Given the description of an element on the screen output the (x, y) to click on. 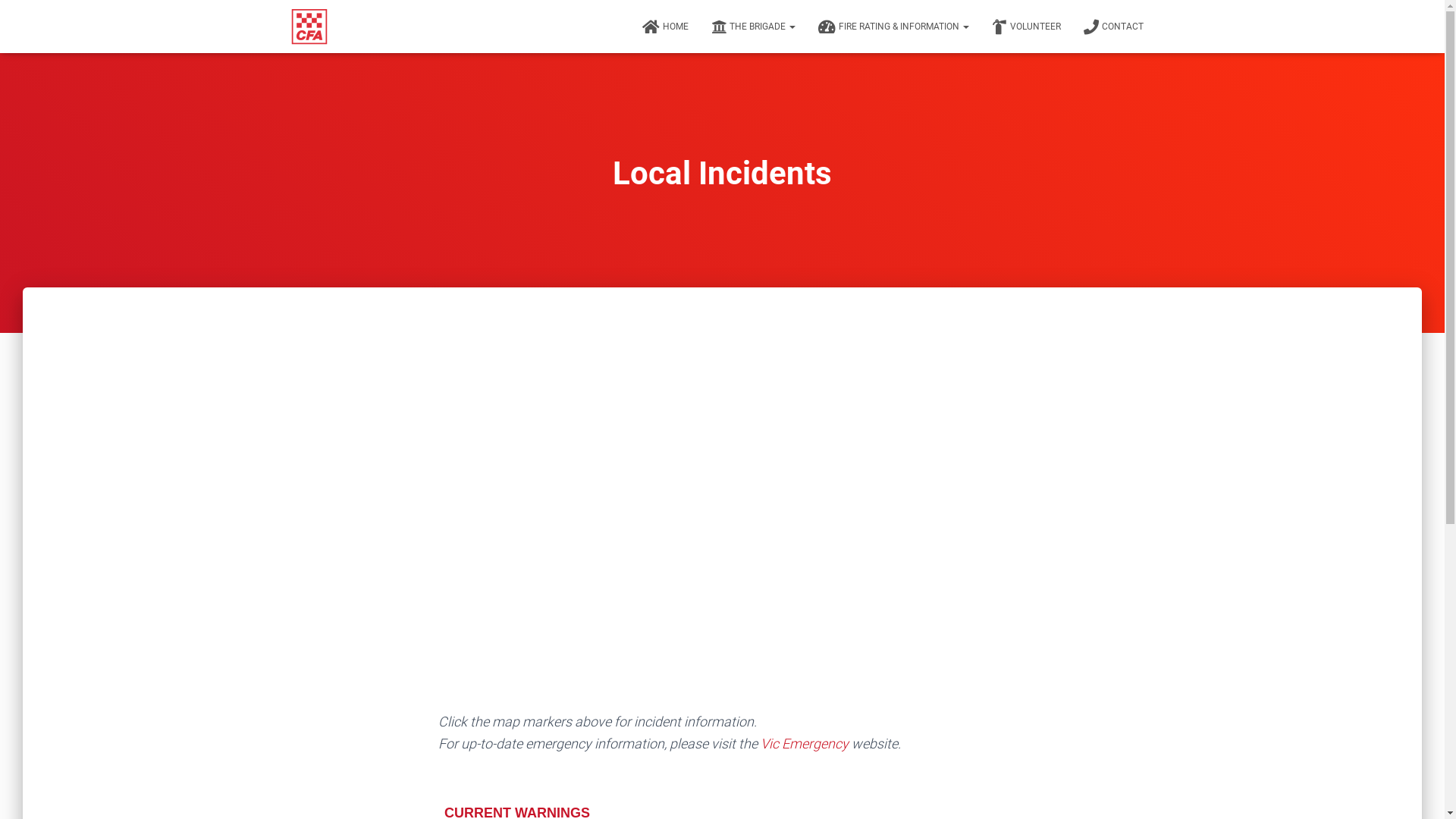
Vic Emergency Element type: text (803, 743)
HOME Element type: text (664, 26)
VOLUNTEER Element type: text (1025, 26)
Mt. Martha Fire Brigade Element type: hover (309, 26)
CONTACT Element type: text (1113, 26)
THE BRIGADE Element type: text (752, 26)
FIRE RATING & INFORMATION Element type: text (893, 26)
